Given the description of an element on the screen output the (x, y) to click on. 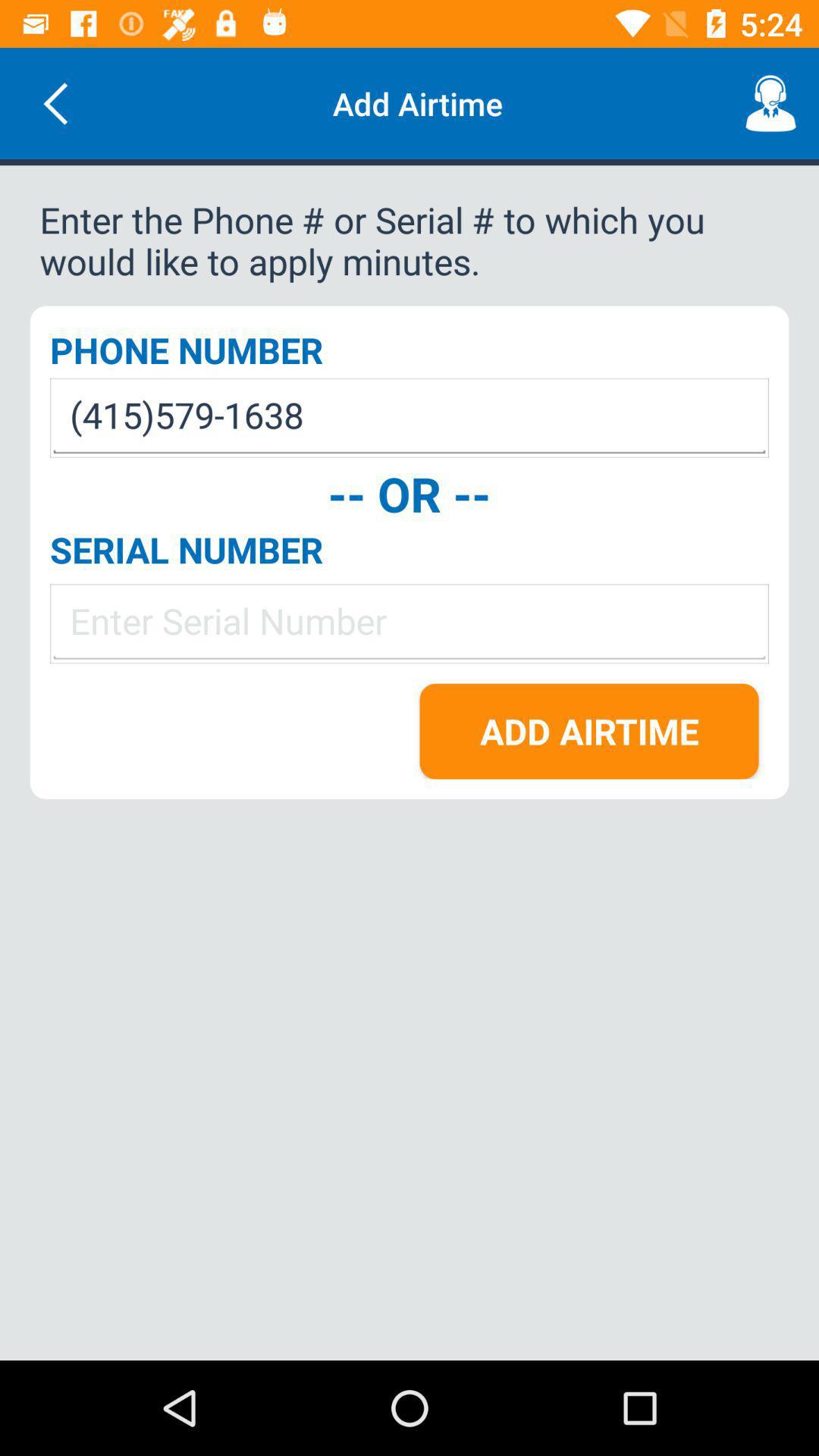
turn off item at the top right corner (771, 103)
